Given the description of an element on the screen output the (x, y) to click on. 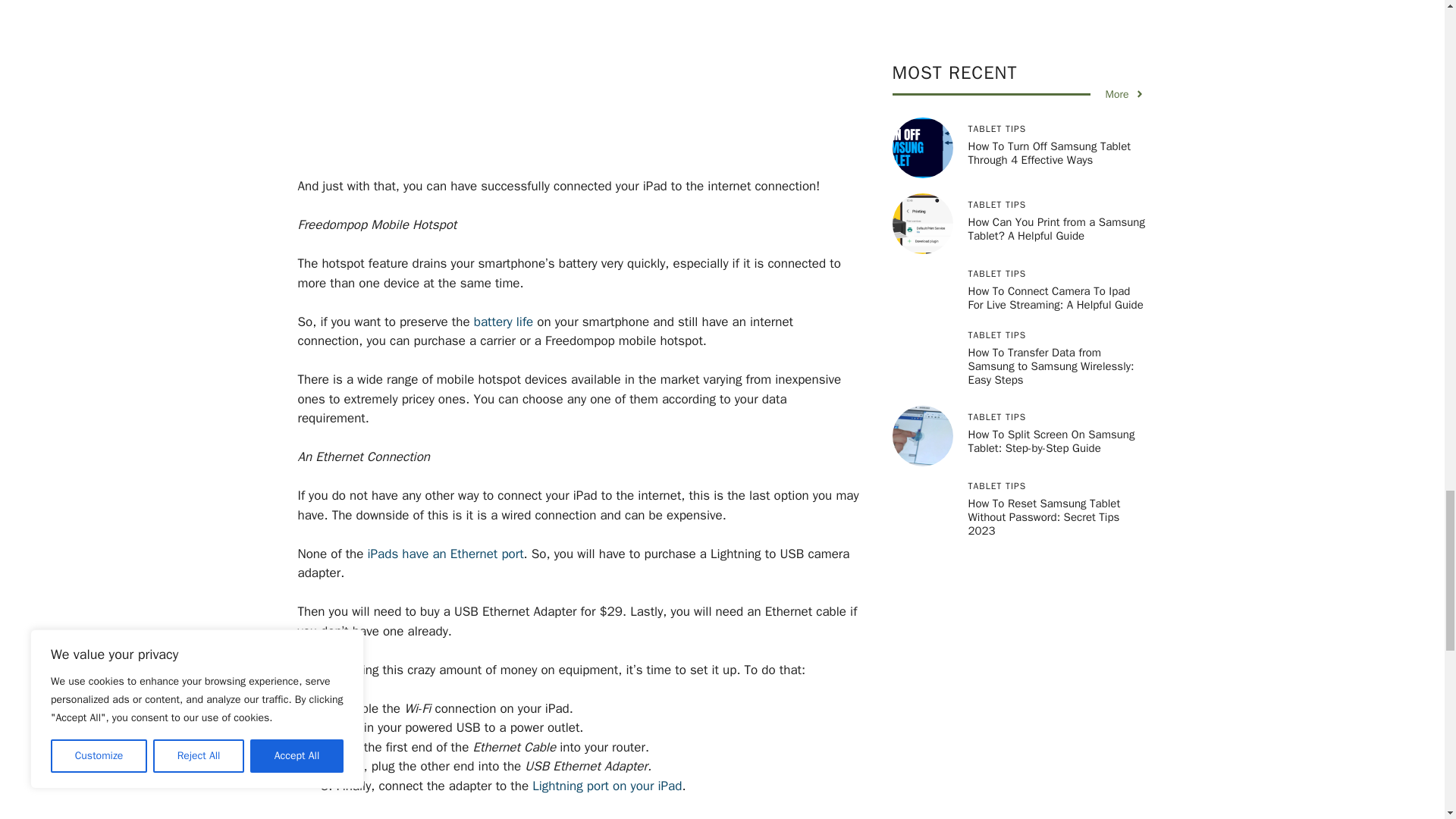
battery life (503, 321)
iPads have an Ethernet port (446, 553)
Lightning port on your iPad (606, 785)
